Given the description of an element on the screen output the (x, y) to click on. 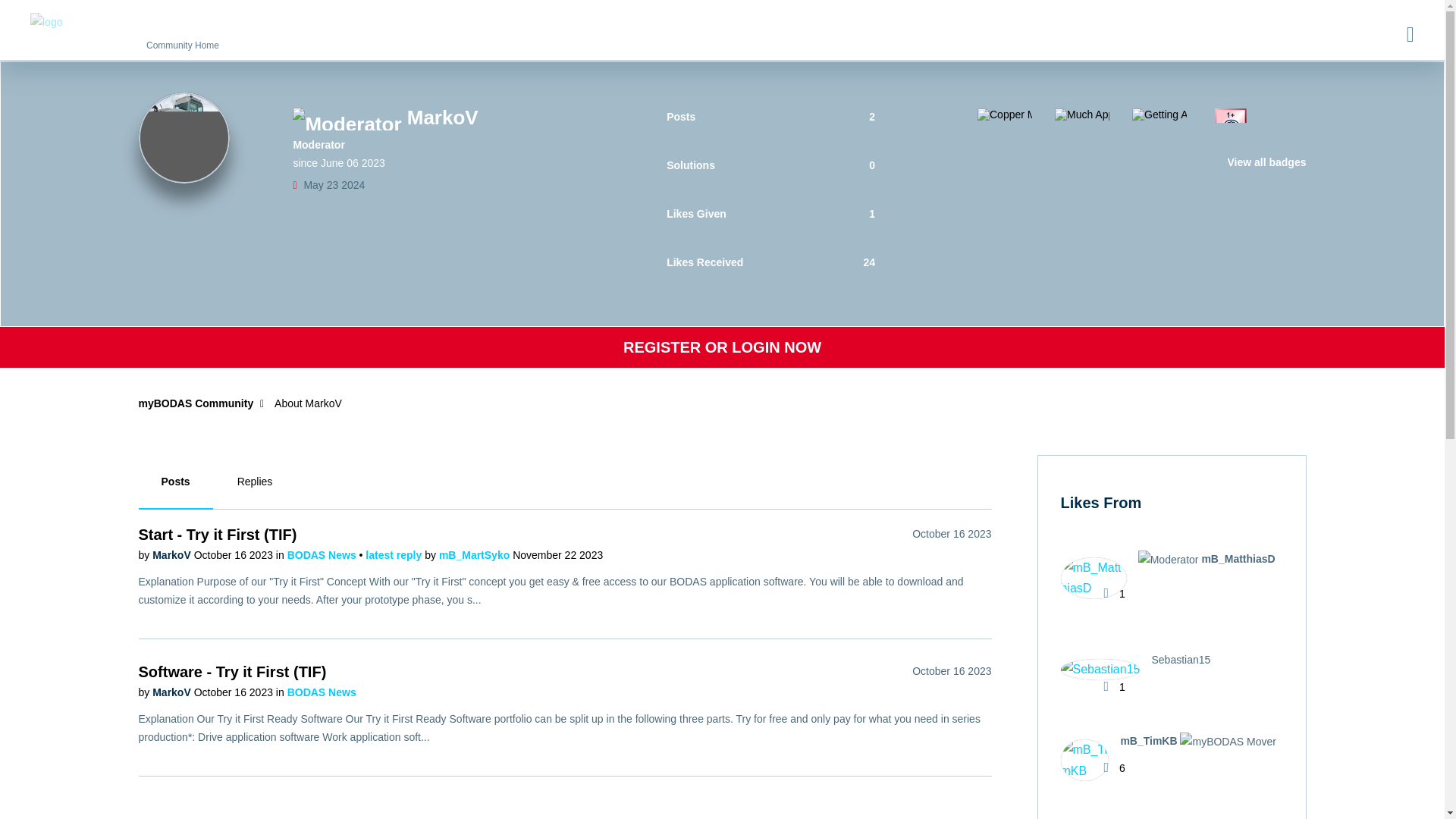
First Topic (1228, 126)
Posts (175, 482)
myBODAS Community (195, 403)
Watcher (1002, 182)
MarkoV (183, 137)
Sebastian15 (1099, 669)
View post (395, 554)
BODAS News (322, 554)
Moderator (346, 118)
Copper Member (1004, 114)
October 16 2023 08:20 AM October 16 2023 08:20 AM (951, 671)
latest reply (395, 554)
October 16 2023 08:20 AM October 16 2023 08:20 AM (951, 533)
MarkoV (172, 554)
Sebastian15 (1140, 675)
